Given the description of an element on the screen output the (x, y) to click on. 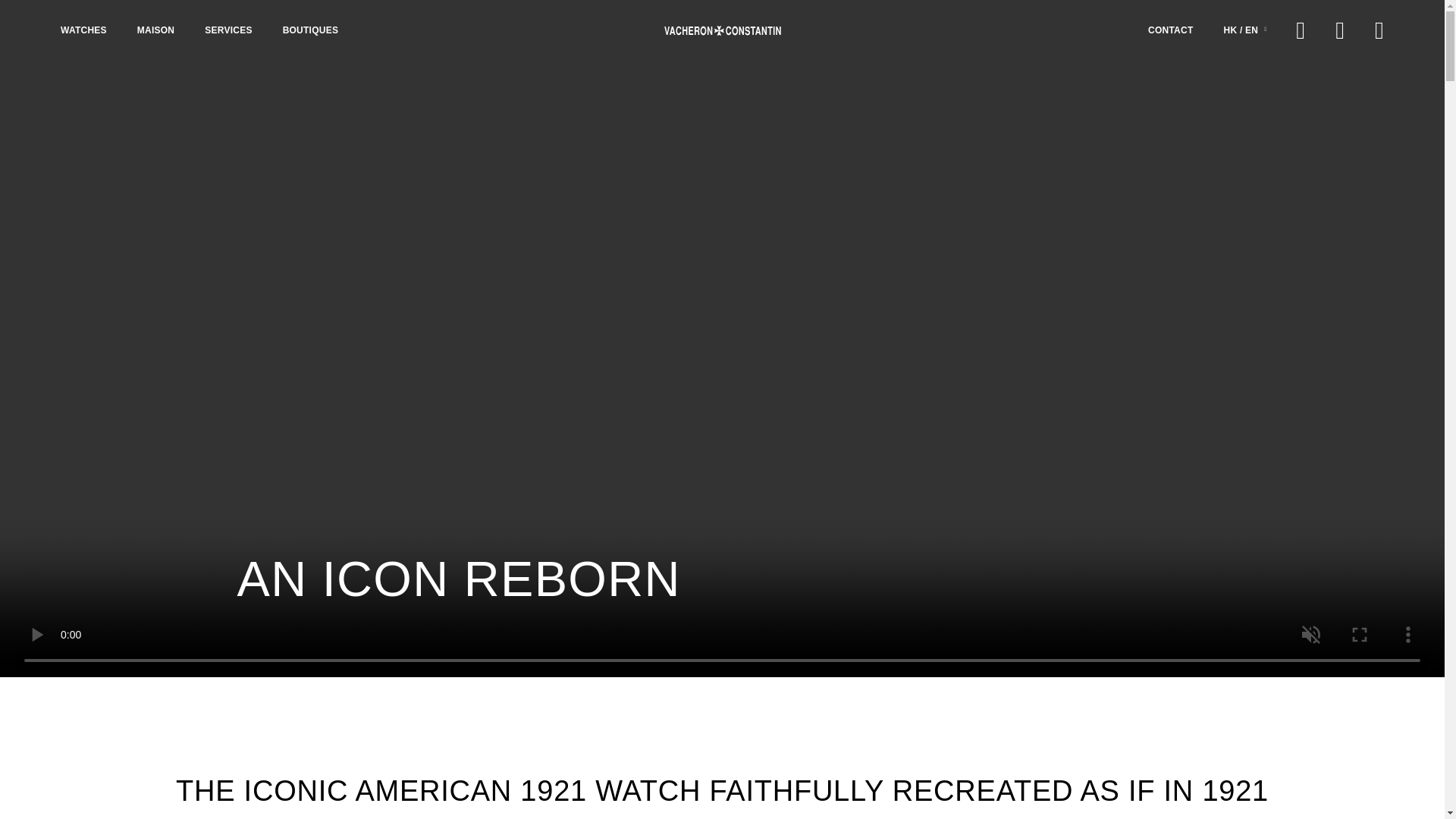
SERVICES (228, 30)
Vacheron Constantin (721, 30)
MAISON (155, 30)
BOUTIQUES (310, 30)
WATCHES (83, 30)
